Given the description of an element on the screen output the (x, y) to click on. 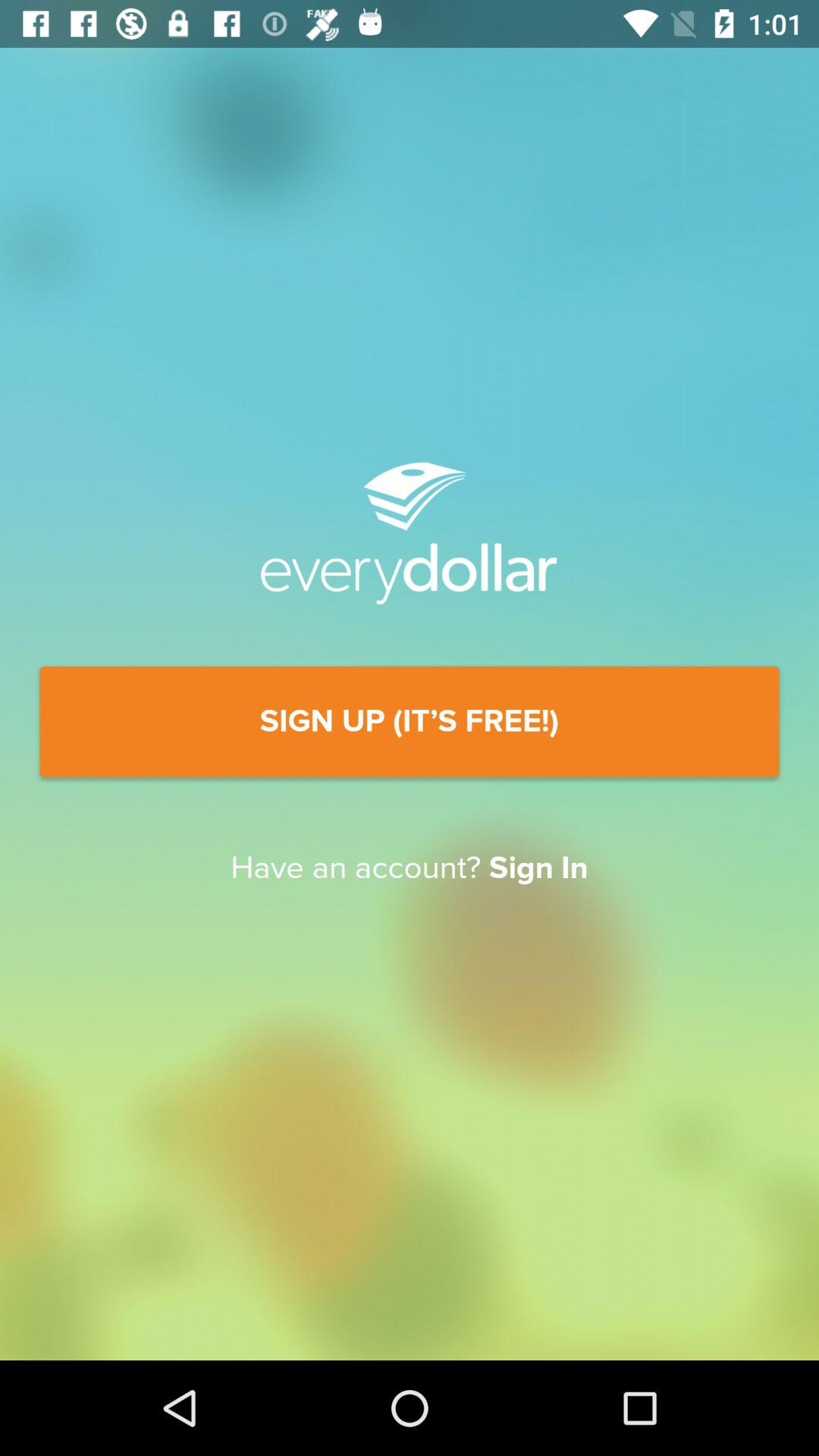
press icon above have an account icon (409, 721)
